Given the description of an element on the screen output the (x, y) to click on. 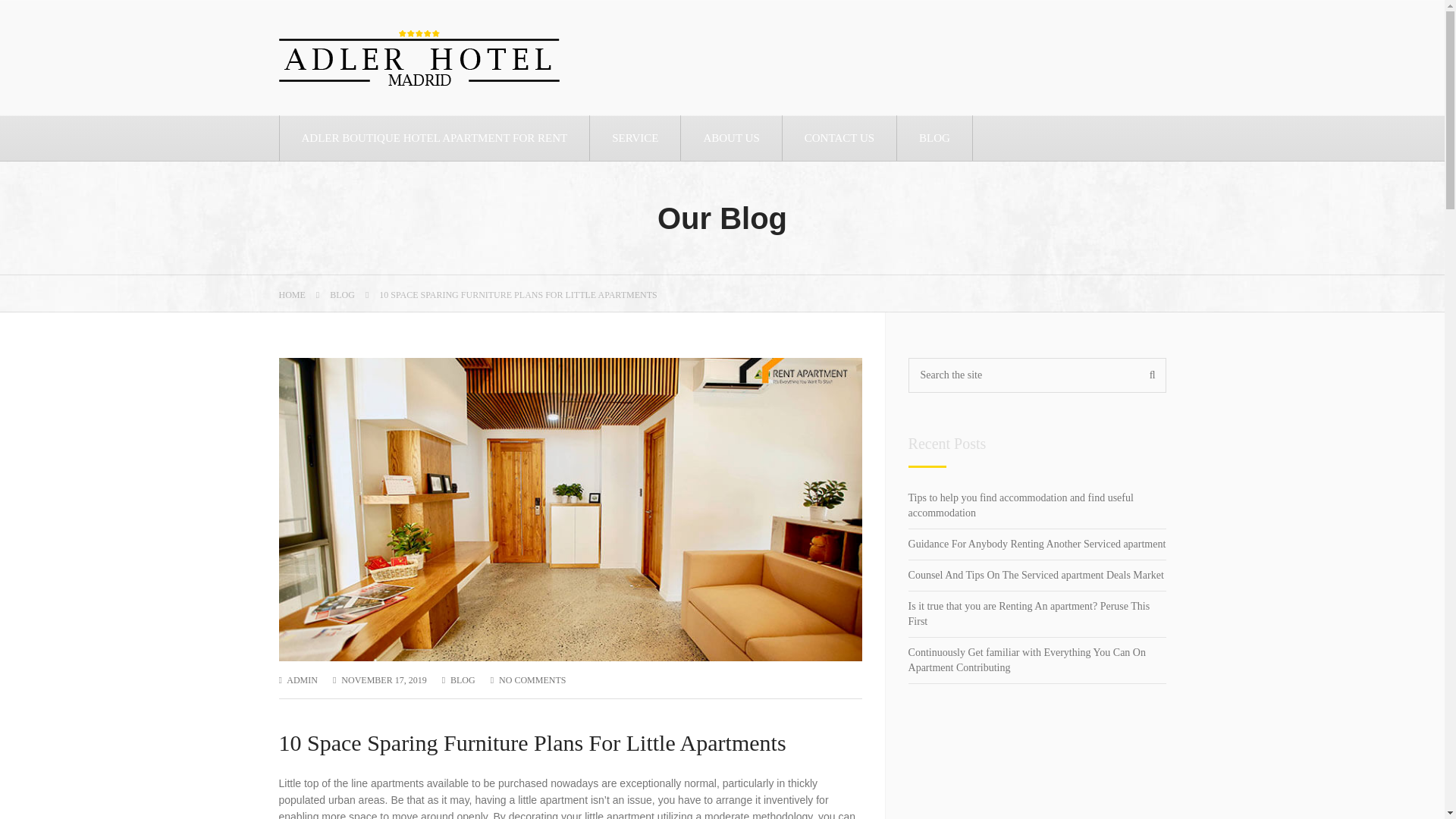
ADLER BOUTIQUE HOTEL APARTMENT FOR RENT (435, 137)
CONTACT US (839, 137)
Posts by admin (301, 679)
SERVICE (635, 137)
HOME (292, 294)
View all posts in blog (462, 679)
Guidance For Anybody Renting Another Serviced apartment (1037, 544)
BLOG (462, 679)
BLOG (934, 137)
BLOG (342, 294)
NO COMMENTS (532, 679)
ABOUT US (731, 137)
ADMIN (301, 679)
